Given the description of an element on the screen output the (x, y) to click on. 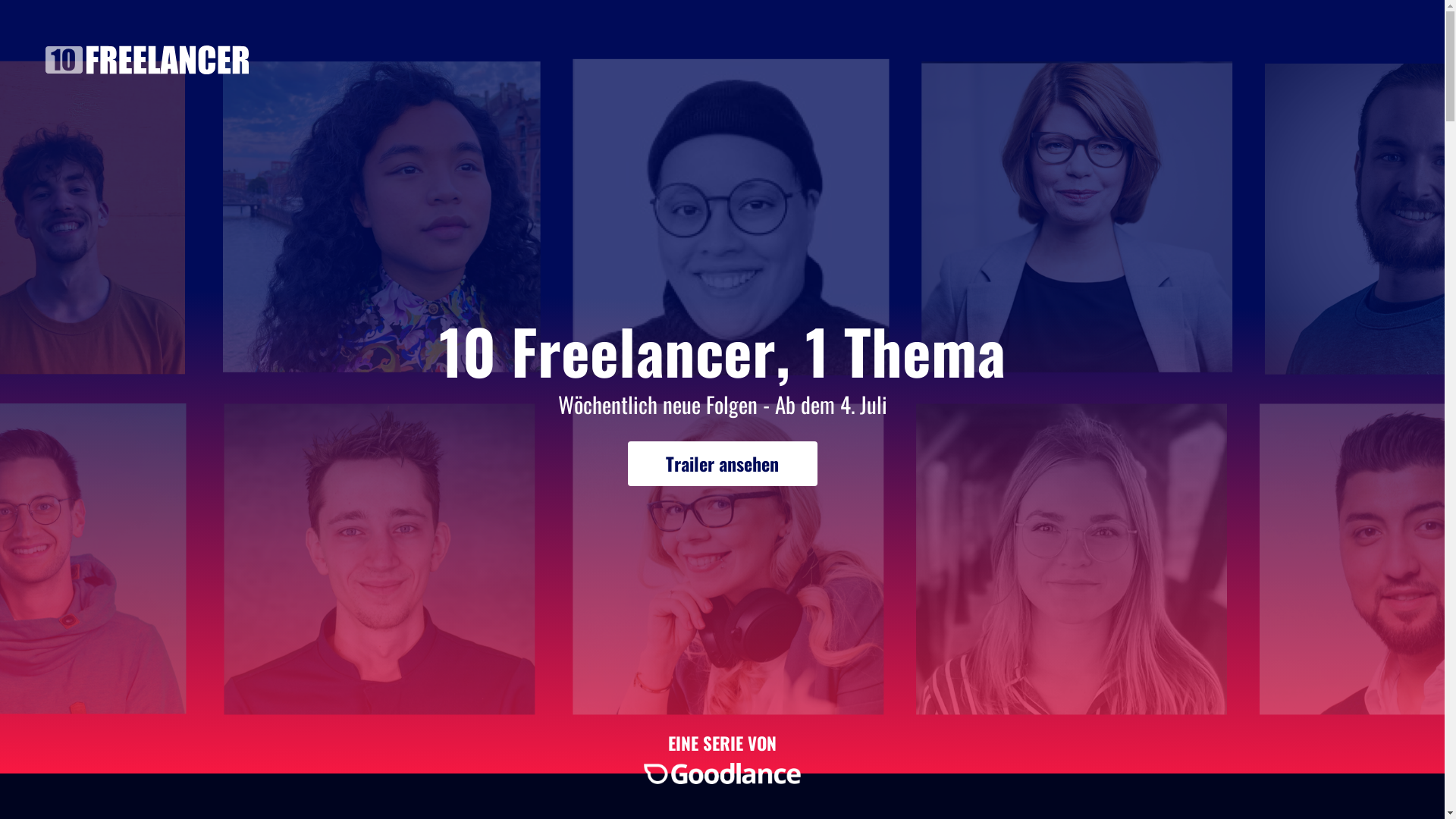
EINE SERIE VON Element type: text (721, 758)
Trailer ansehen Element type: text (722, 463)
